Given the description of an element on the screen output the (x, y) to click on. 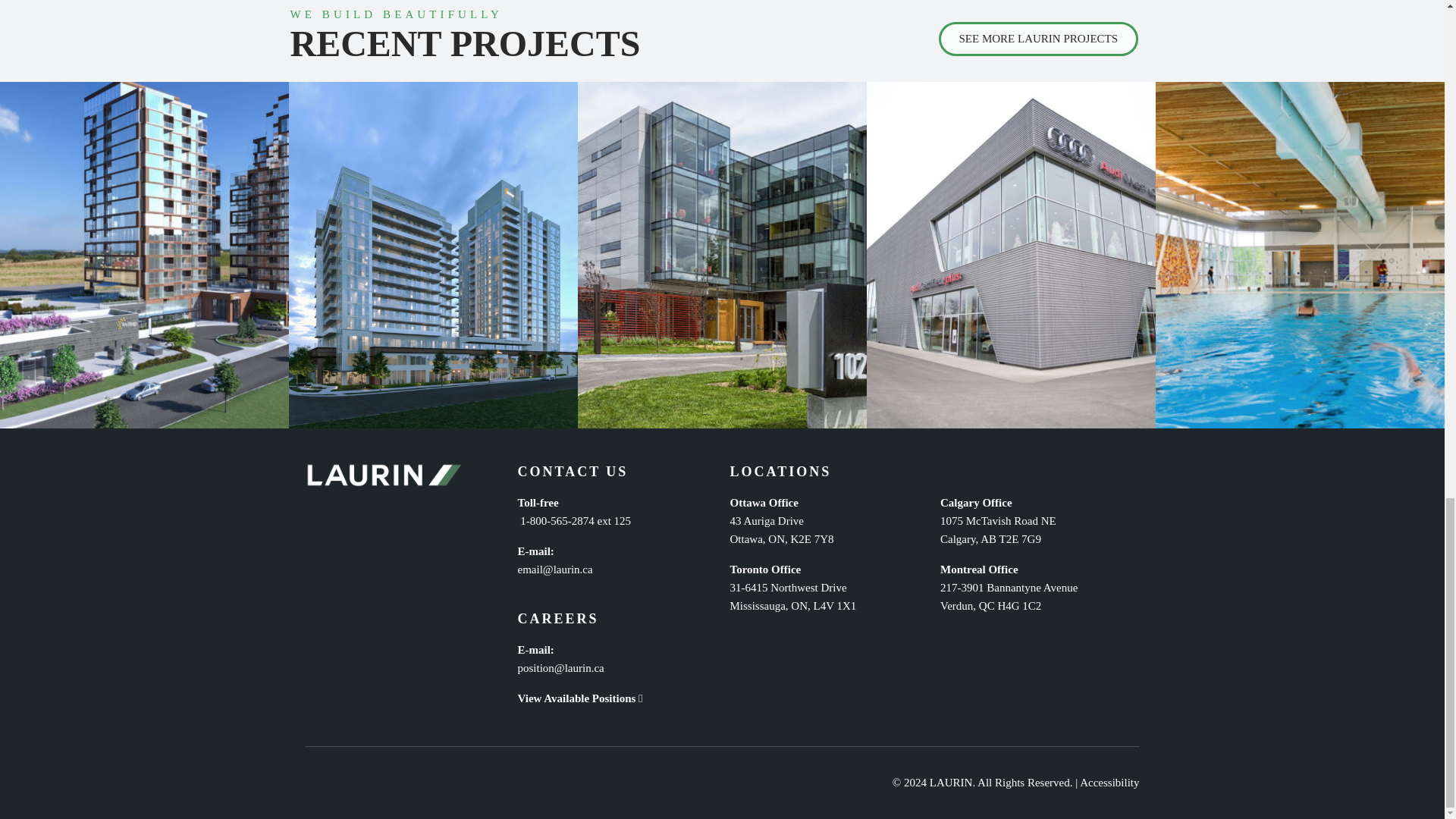
 1-800-565-2874 ext 125 (573, 521)
Accessibility (1109, 782)
SEE MORE LAURIN PROJECTS (1038, 39)
Careers (579, 698)
